Given the description of an element on the screen output the (x, y) to click on. 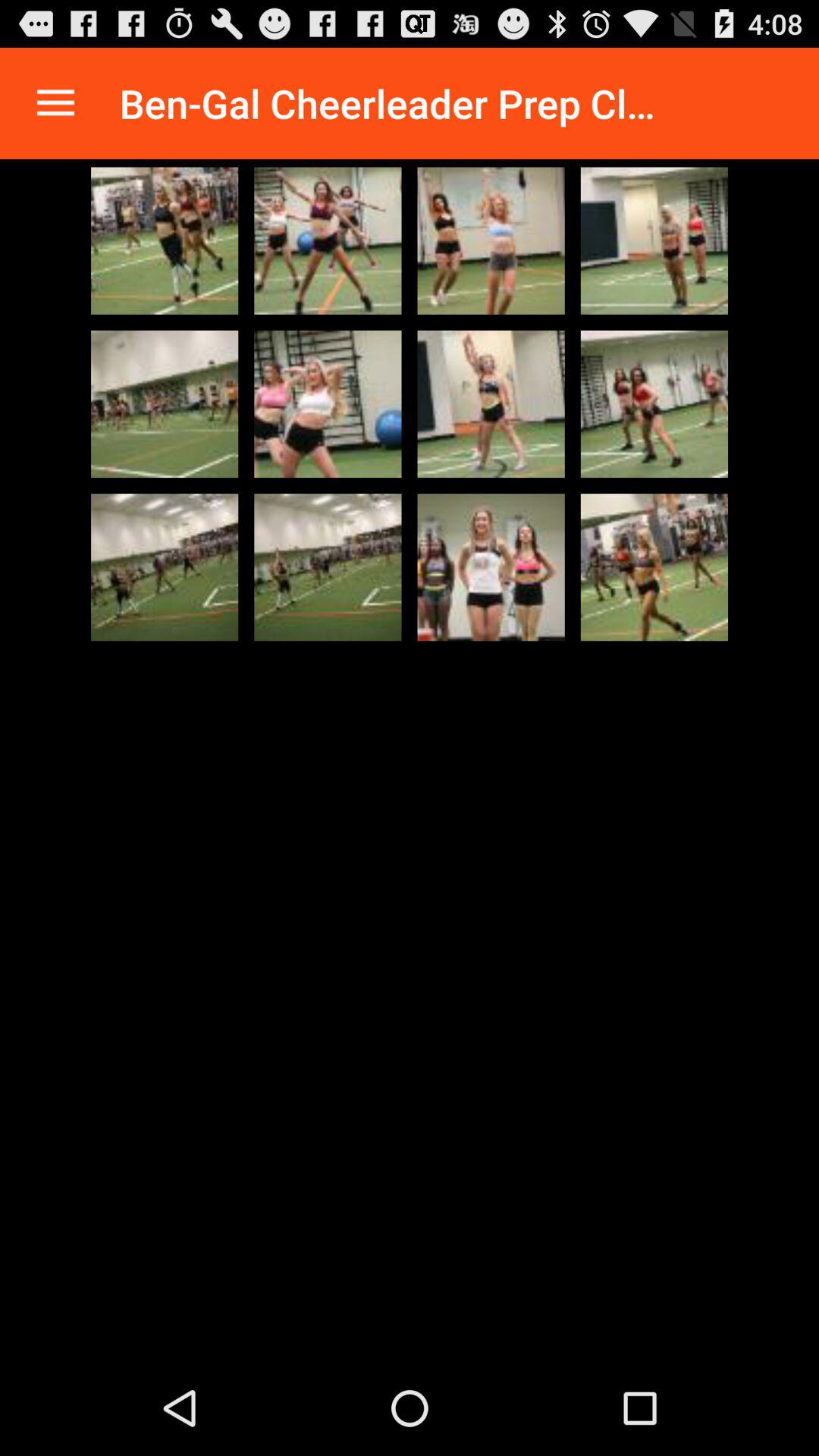
view photo (490, 403)
